Given the description of an element on the screen output the (x, y) to click on. 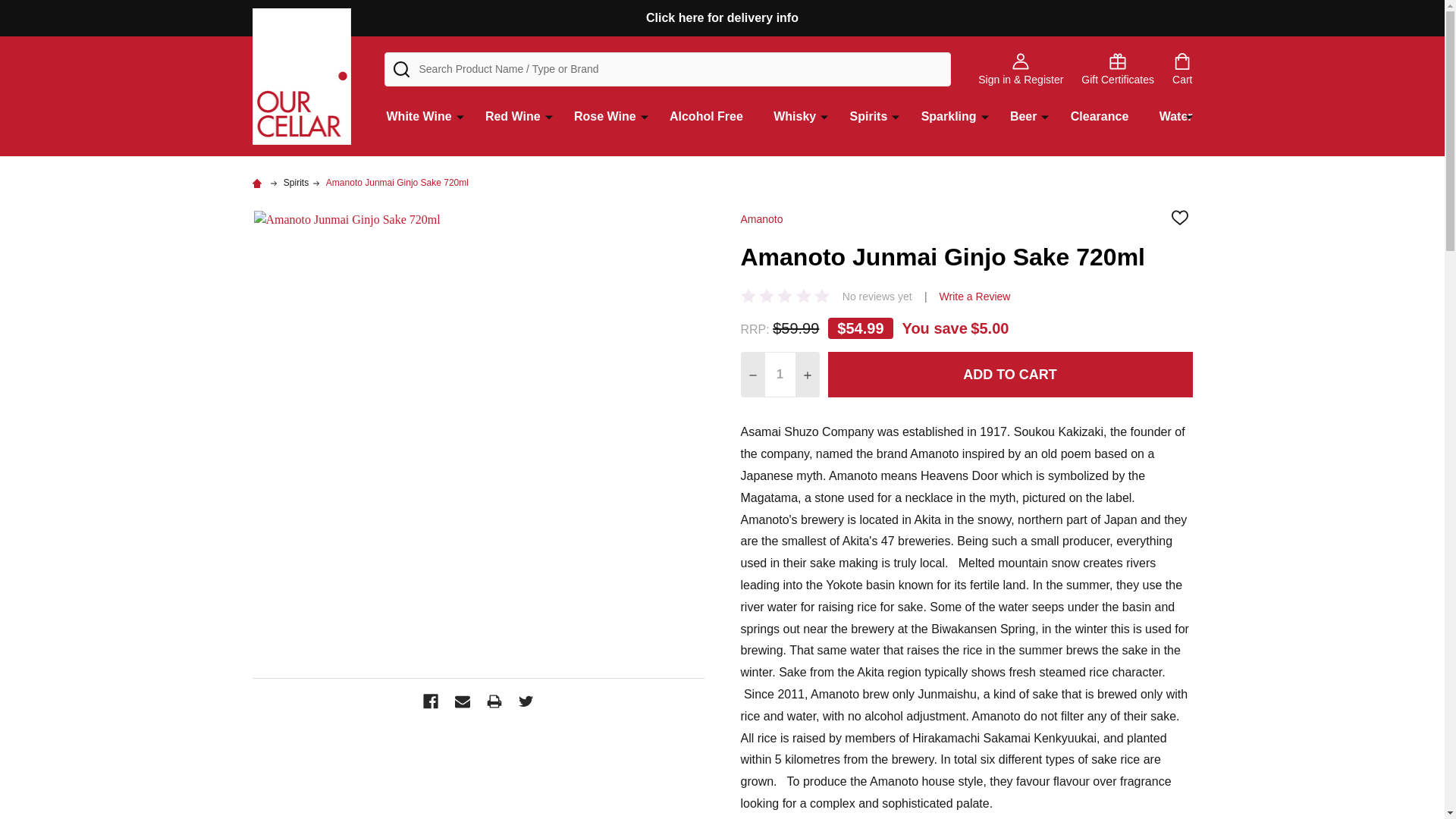
Home (257, 182)
Spirits (295, 182)
Add to Wish List (1179, 217)
White Wine (415, 122)
Click here for delivery info (721, 17)
Amanoto Junmai Ginjo Sake 720ml (397, 182)
Gift Certificates (1117, 69)
